Given the description of an element on the screen output the (x, y) to click on. 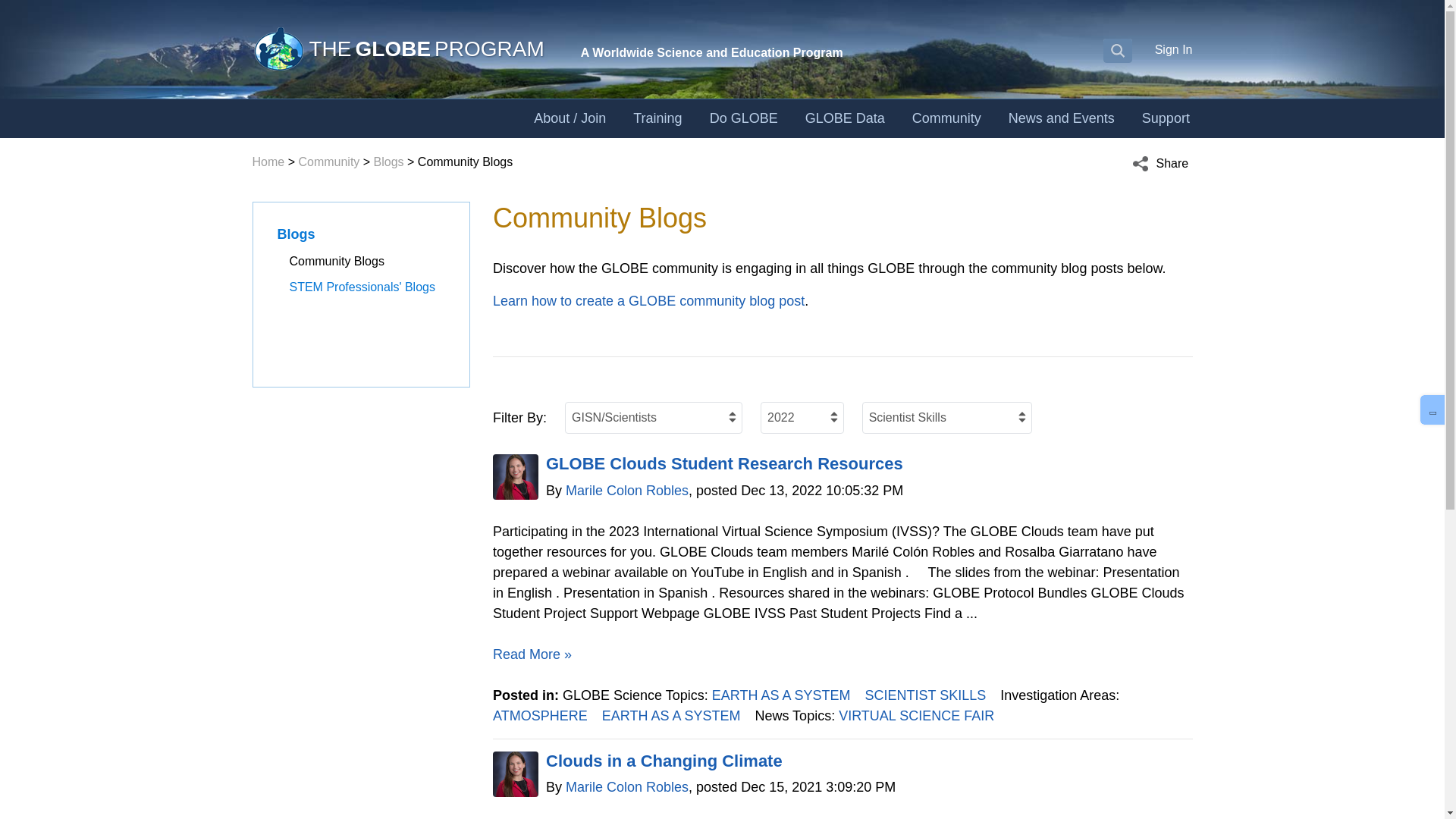
Go to GLOBE.gov (397, 48)
THE GLOBE PROGRAM (397, 48)
Sign In (1173, 48)
